Given the description of an element on the screen output the (x, y) to click on. 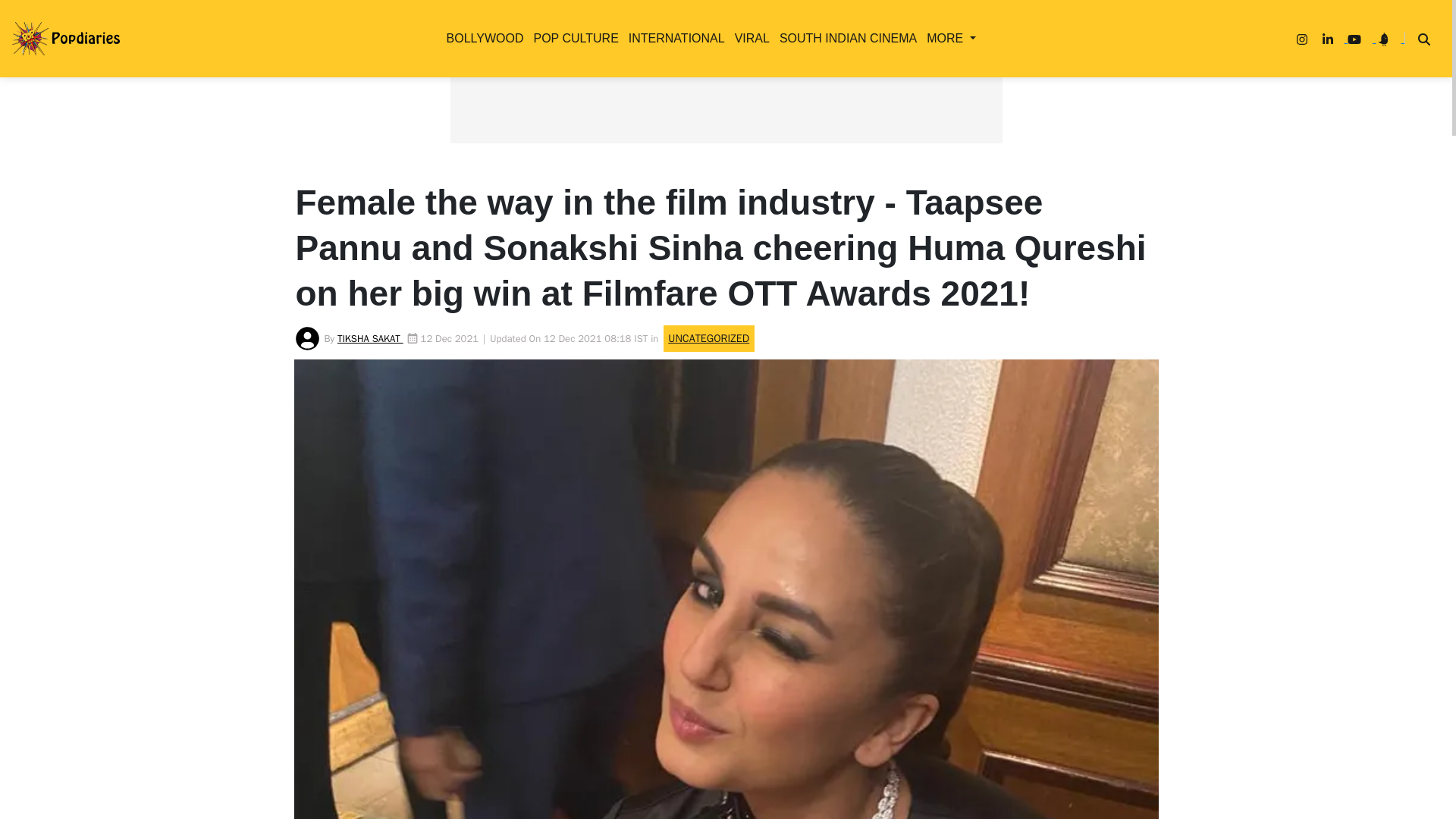
INTERNATIONAL (674, 38)
BOLLYWOOD (482, 38)
UNCATEGORIZED (545, 260)
SOUTH INDIAN CINEMA (845, 38)
POP CULTURE (572, 38)
TIKSHA SAKAT (370, 338)
